Given the description of an element on the screen output the (x, y) to click on. 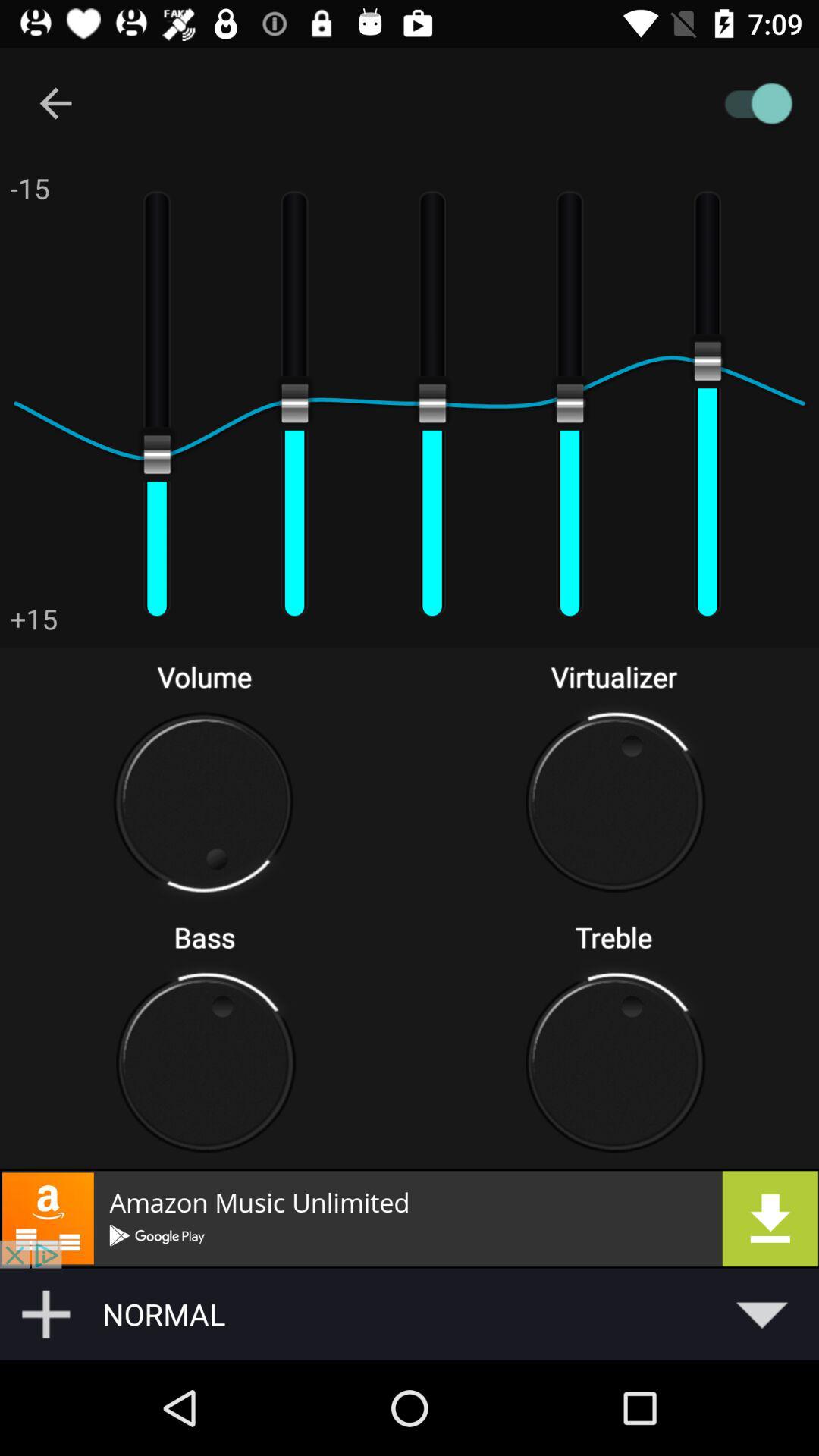
turn off app settings (481, 103)
